Given the description of an element on the screen output the (x, y) to click on. 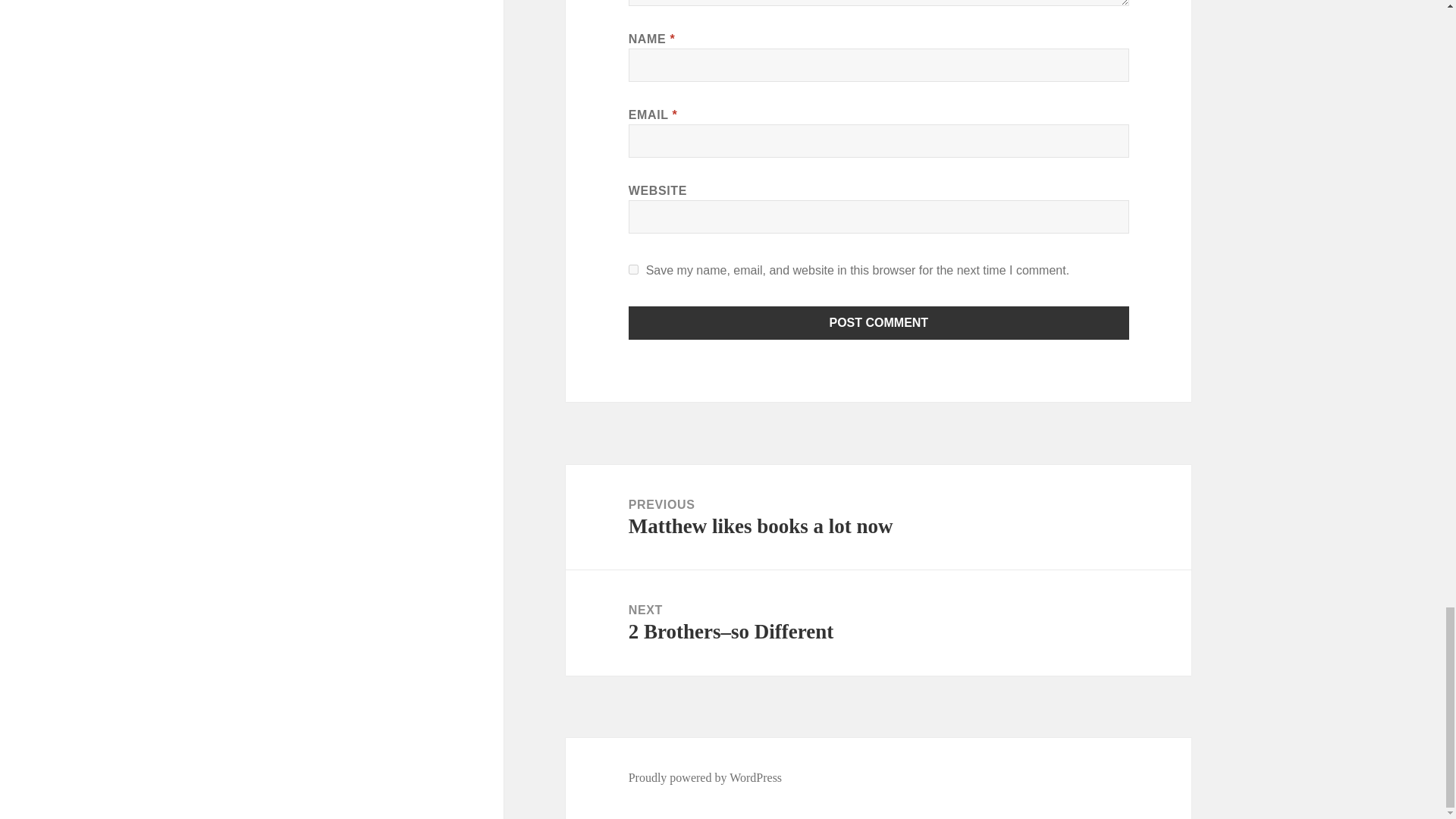
yes (633, 269)
Proudly powered by WordPress (704, 777)
Post Comment (878, 322)
Post Comment (878, 322)
